Given the description of an element on the screen output the (x, y) to click on. 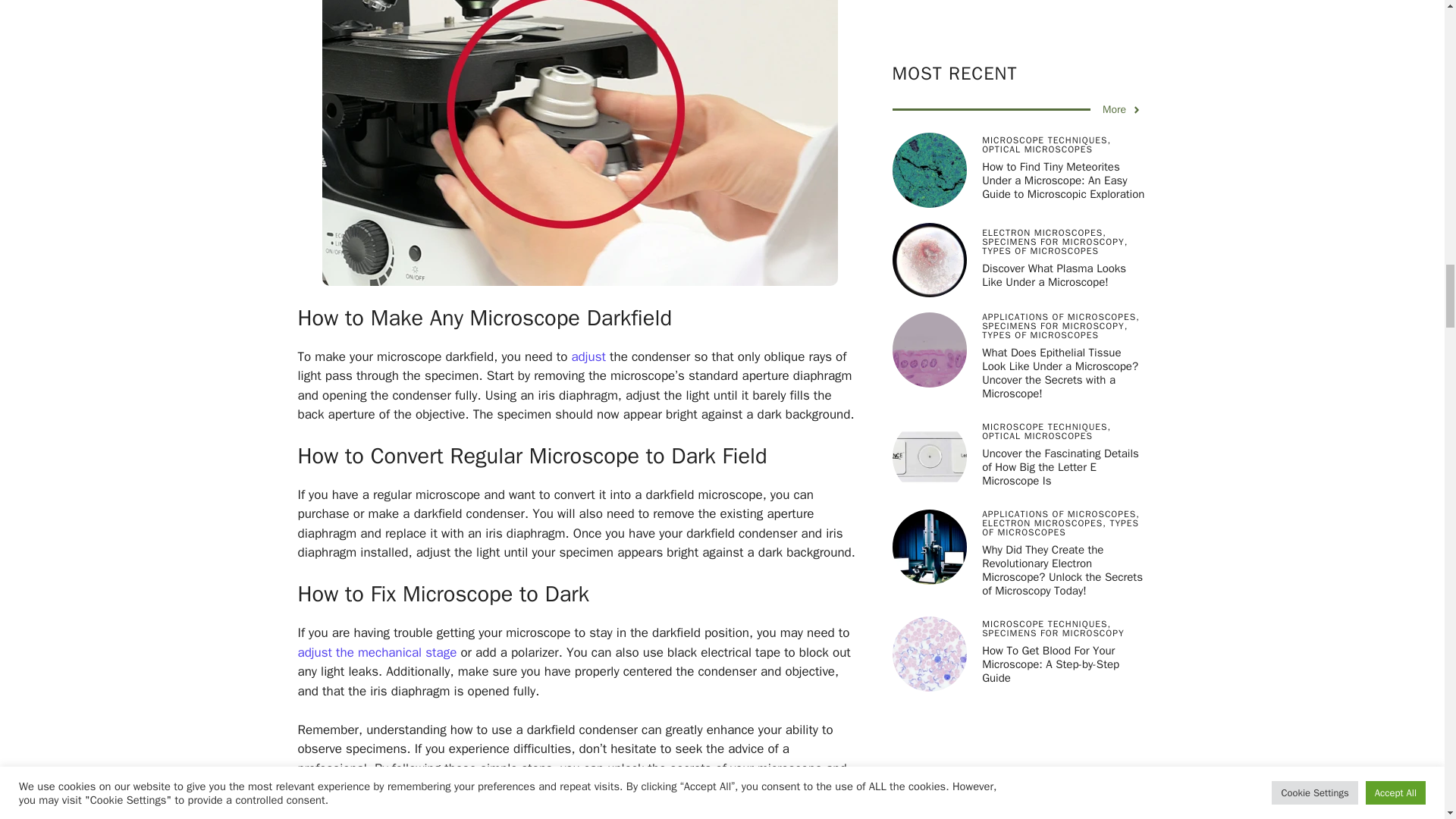
adjust (587, 356)
adjust the mechanical stage (377, 652)
